Given the description of an element on the screen output the (x, y) to click on. 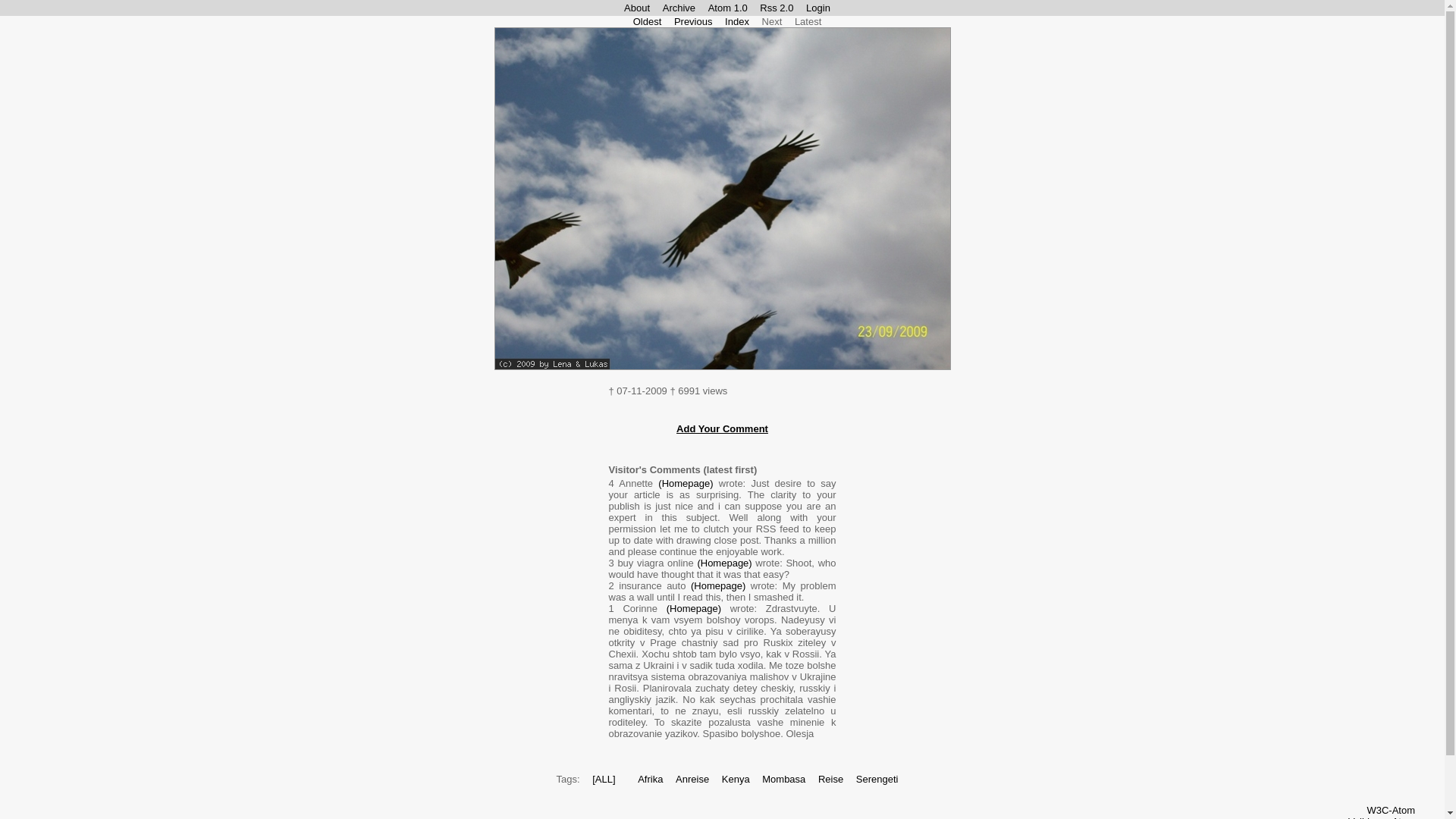
Previous (693, 21)
About (636, 7)
Mombasa (783, 778)
Archive (678, 7)
Rss 2.0 (776, 7)
Index (737, 21)
Reise (830, 778)
Afrika (649, 778)
W3C-Atom (1391, 809)
Kenya (735, 778)
